Given the description of an element on the screen output the (x, y) to click on. 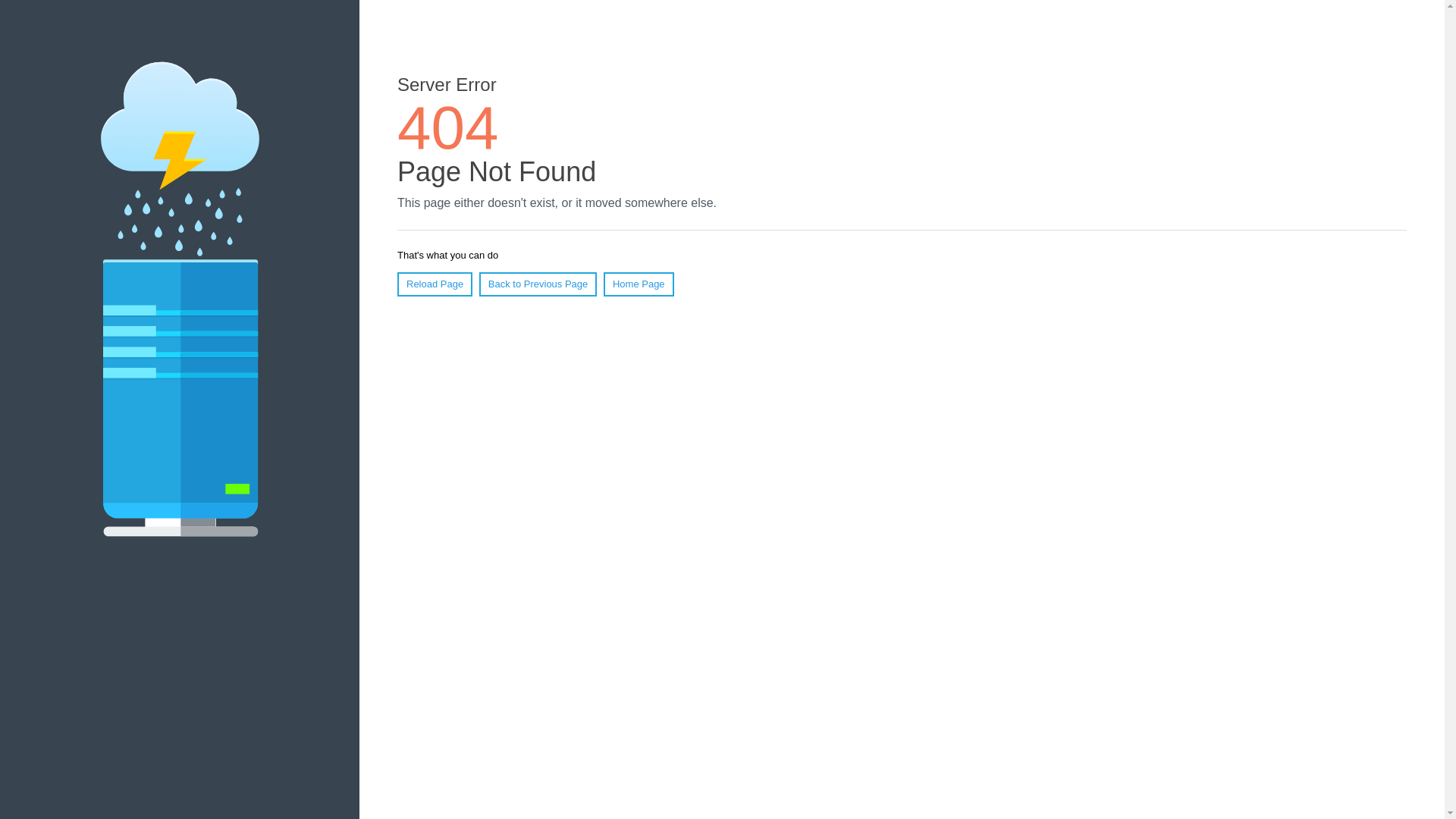
Reload Page Element type: text (434, 284)
Home Page Element type: text (638, 284)
Back to Previous Page Element type: text (538, 284)
